Given the description of an element on the screen output the (x, y) to click on. 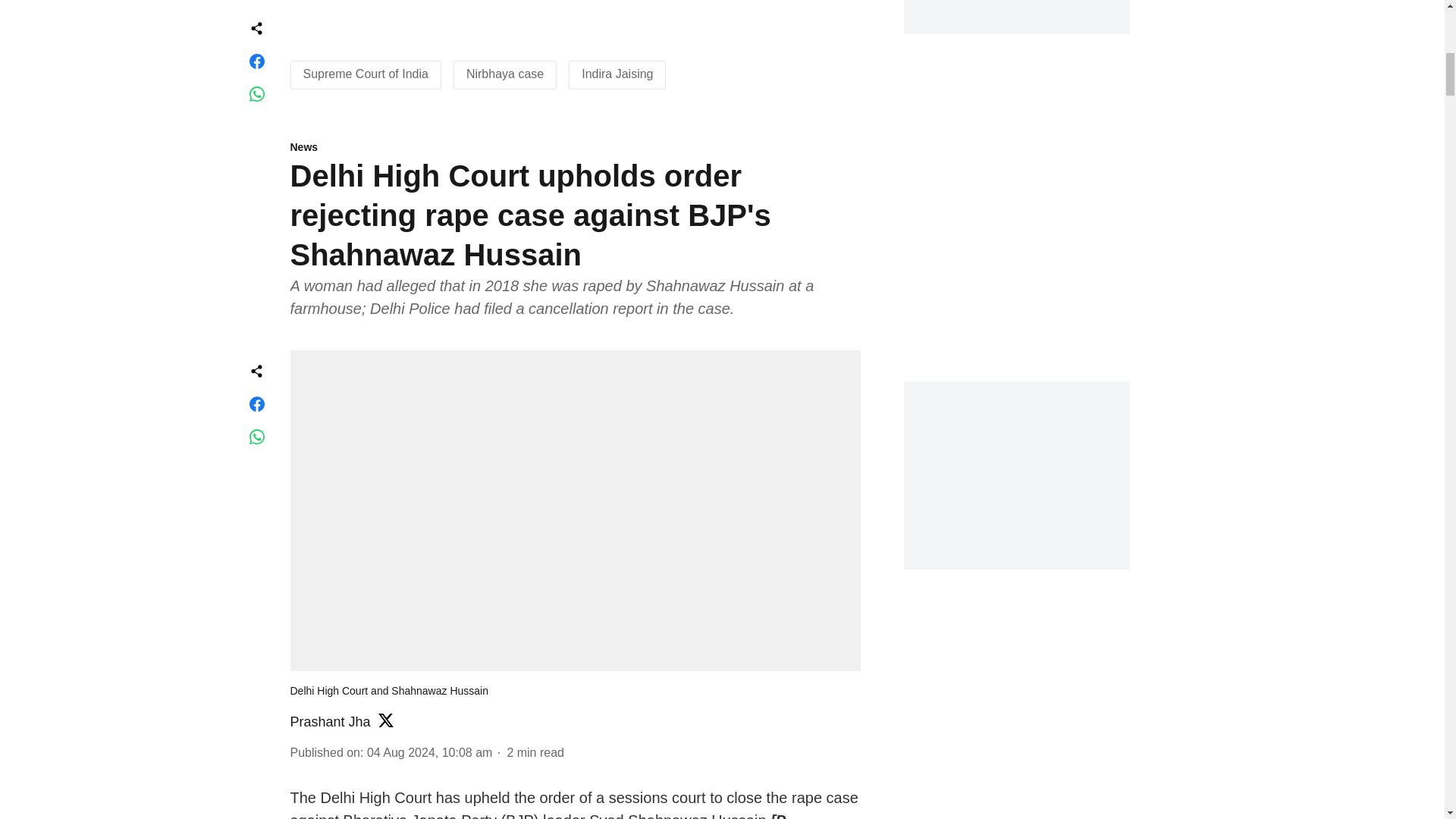
2024-08-04 02:08 (429, 752)
News (574, 148)
Indira Jaising (616, 73)
Prashant Jha (329, 721)
Nirbhaya case (504, 73)
Supreme Court of India (365, 73)
